Given the description of an element on the screen output the (x, y) to click on. 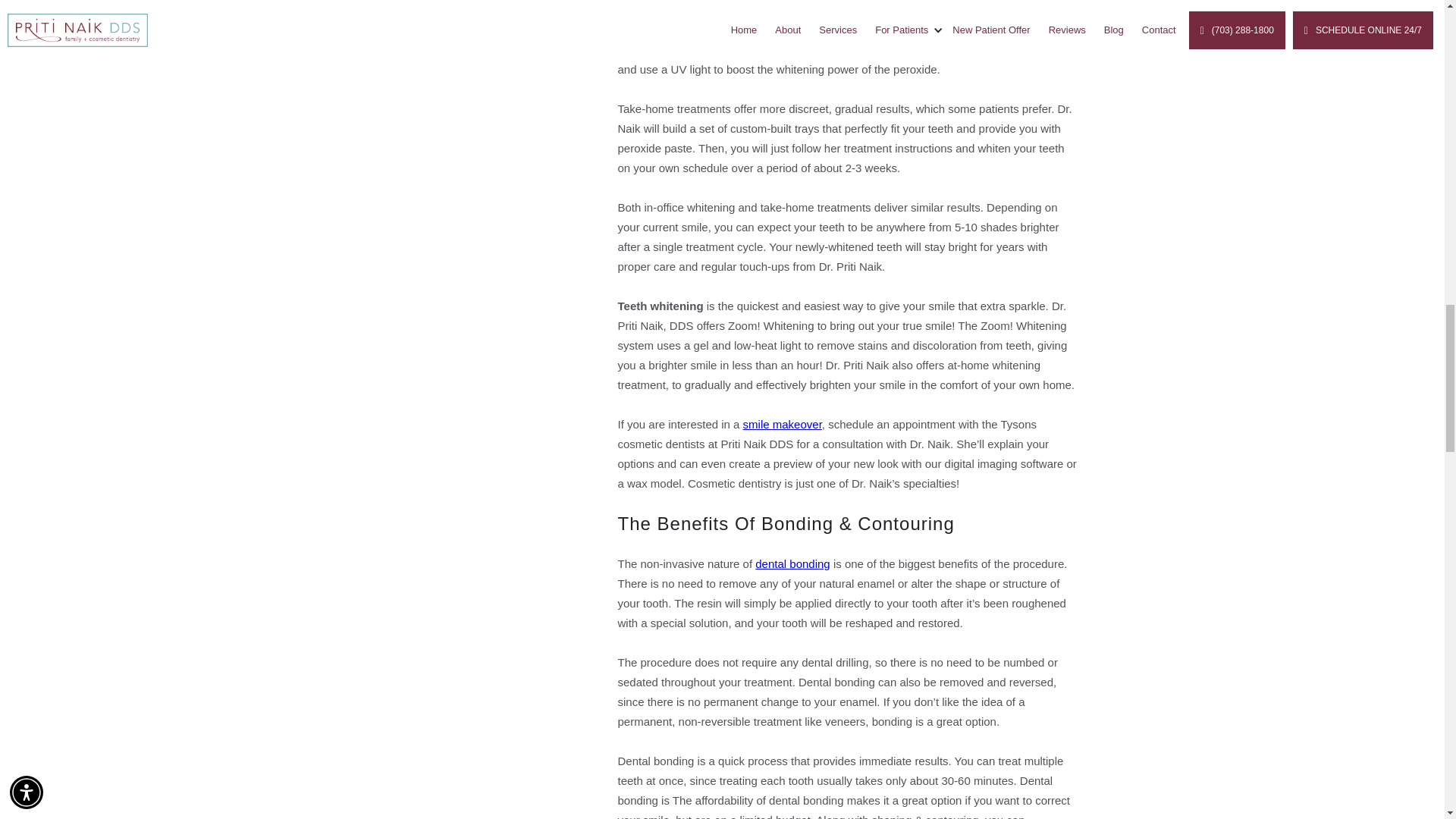
smile makeover (782, 423)
dental bonding (792, 563)
